Given the description of an element on the screen output the (x, y) to click on. 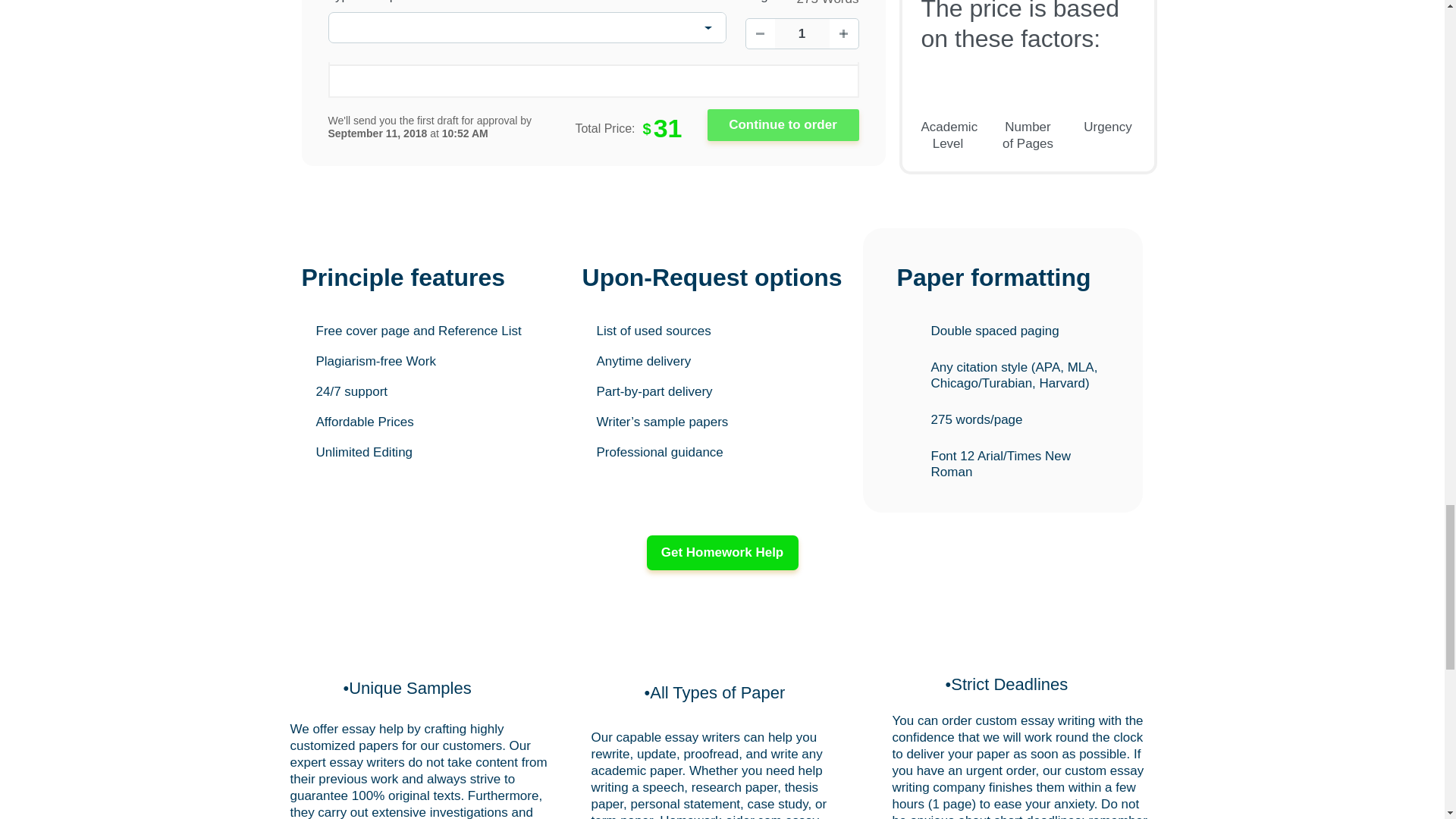
Decrease (759, 33)
homework help (721, 552)
Increase (844, 33)
Continue to order (782, 124)
1 (801, 33)
Continue to Order (782, 124)
